Given the description of an element on the screen output the (x, y) to click on. 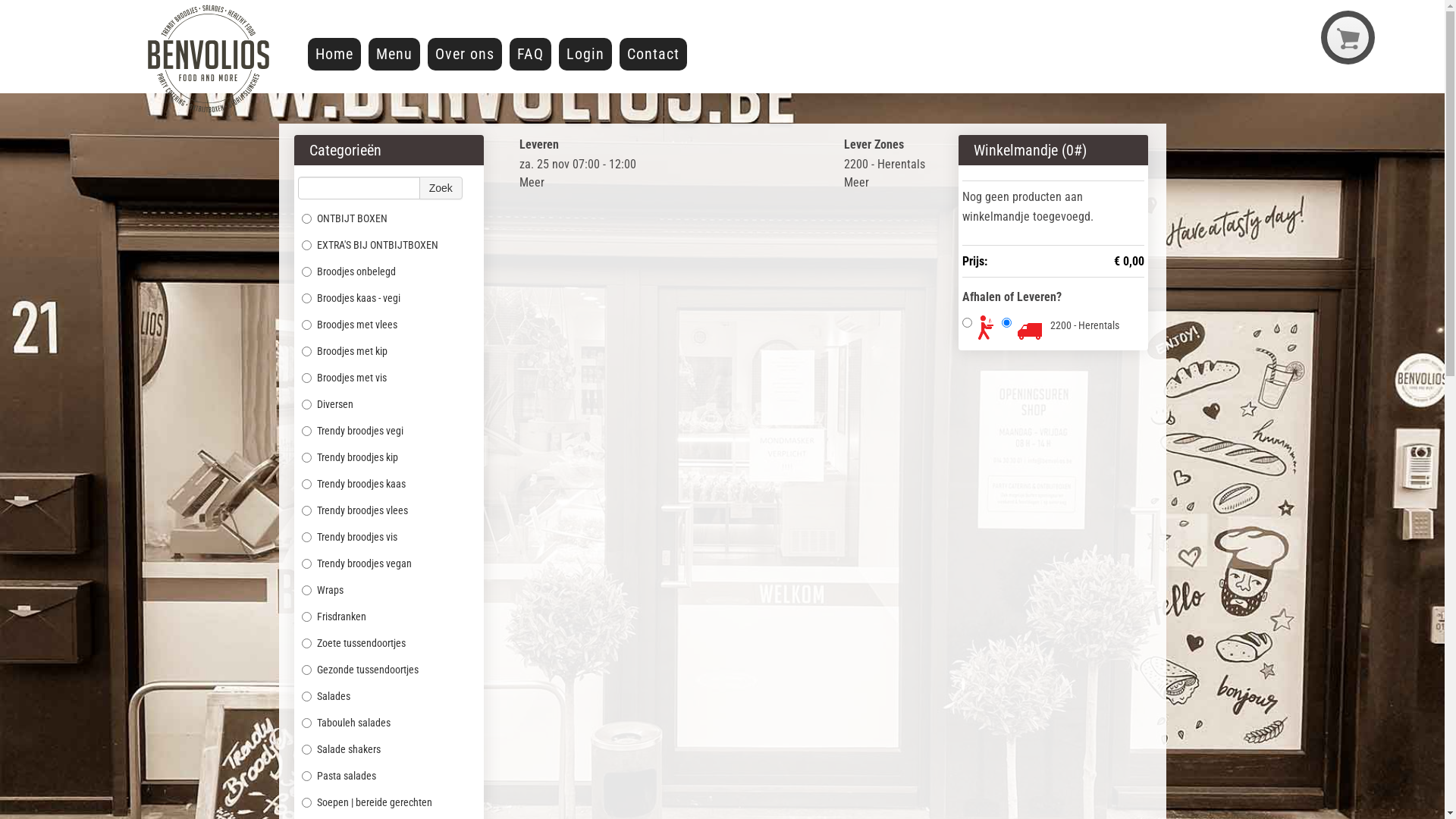
Bestel Element type: text (722, 13)
Contact Element type: text (653, 53)
Login Element type: text (584, 53)
Menu Element type: text (394, 53)
Meer Element type: text (531, 182)
2200 - Herentals Element type: text (1084, 325)
Zoek Element type: text (440, 187)
Meer Element type: text (856, 182)
Over ons Element type: text (464, 53)
FAQ Element type: text (530, 53)
Home Element type: text (333, 53)
